Given the description of an element on the screen output the (x, y) to click on. 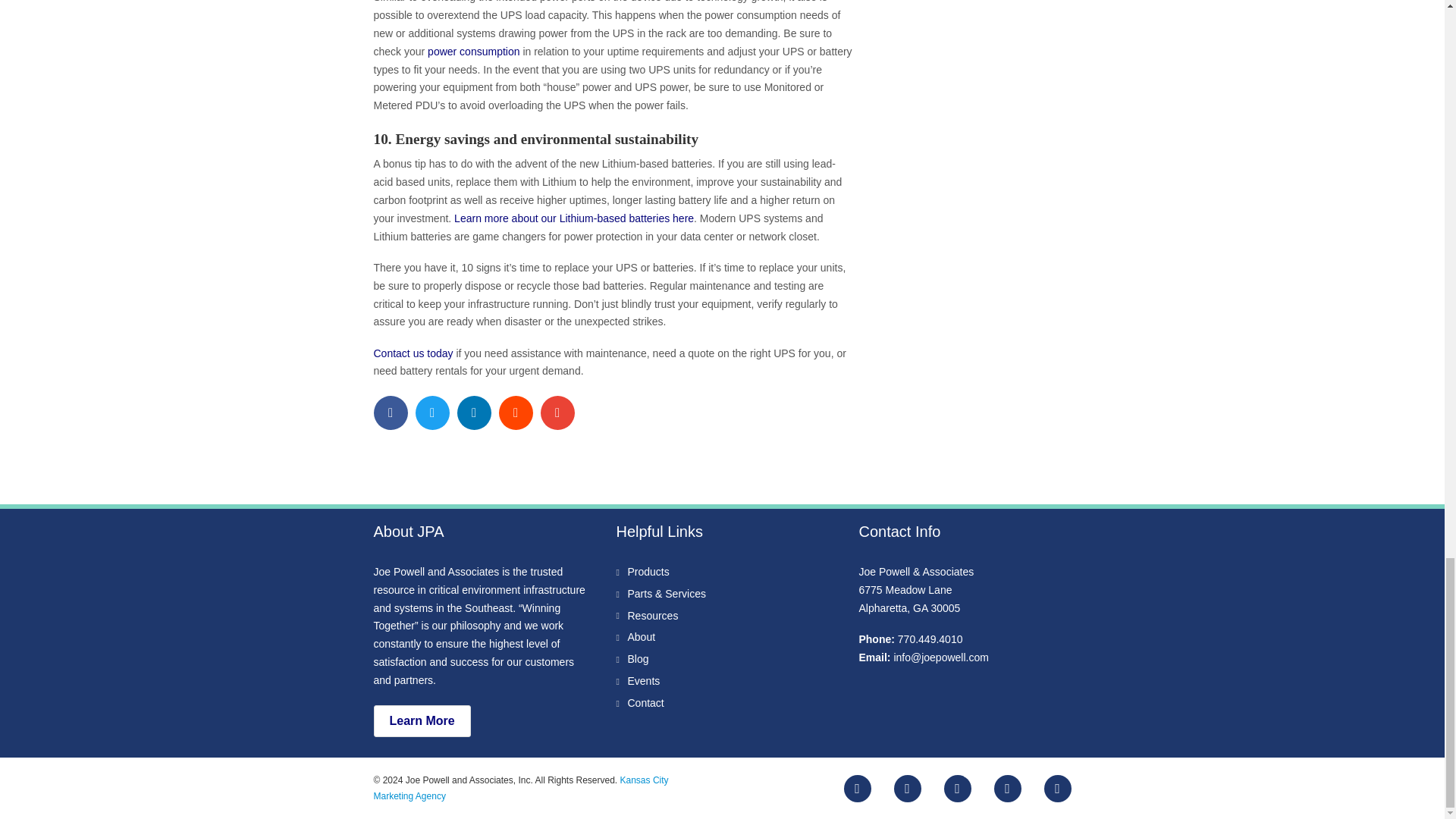
Kansas City Marketing Agency (520, 787)
